Given the description of an element on the screen output the (x, y) to click on. 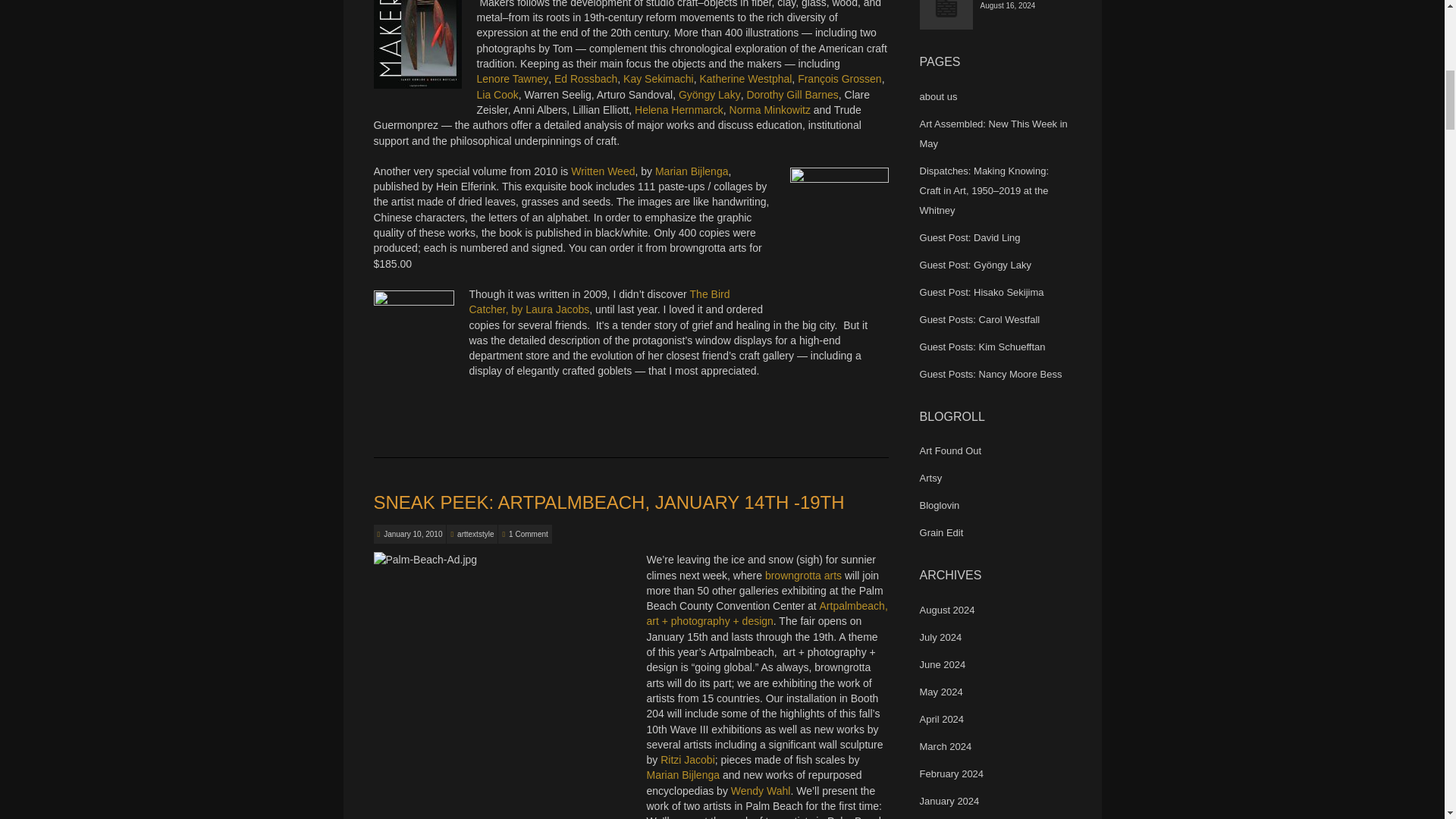
Ed Rossbach (585, 78)
View all posts by arttextstyle (475, 533)
Makers (416, 44)
Art notes from across the globe (950, 450)
Kay Sekimachi (658, 78)
Sneak Peek: Artpalmbeach, January 14th -19th (608, 502)
Sneak Peek: Artpalmbeach, January 14th -19th (413, 533)
Lenore Tawney (512, 78)
